Given the description of an element on the screen output the (x, y) to click on. 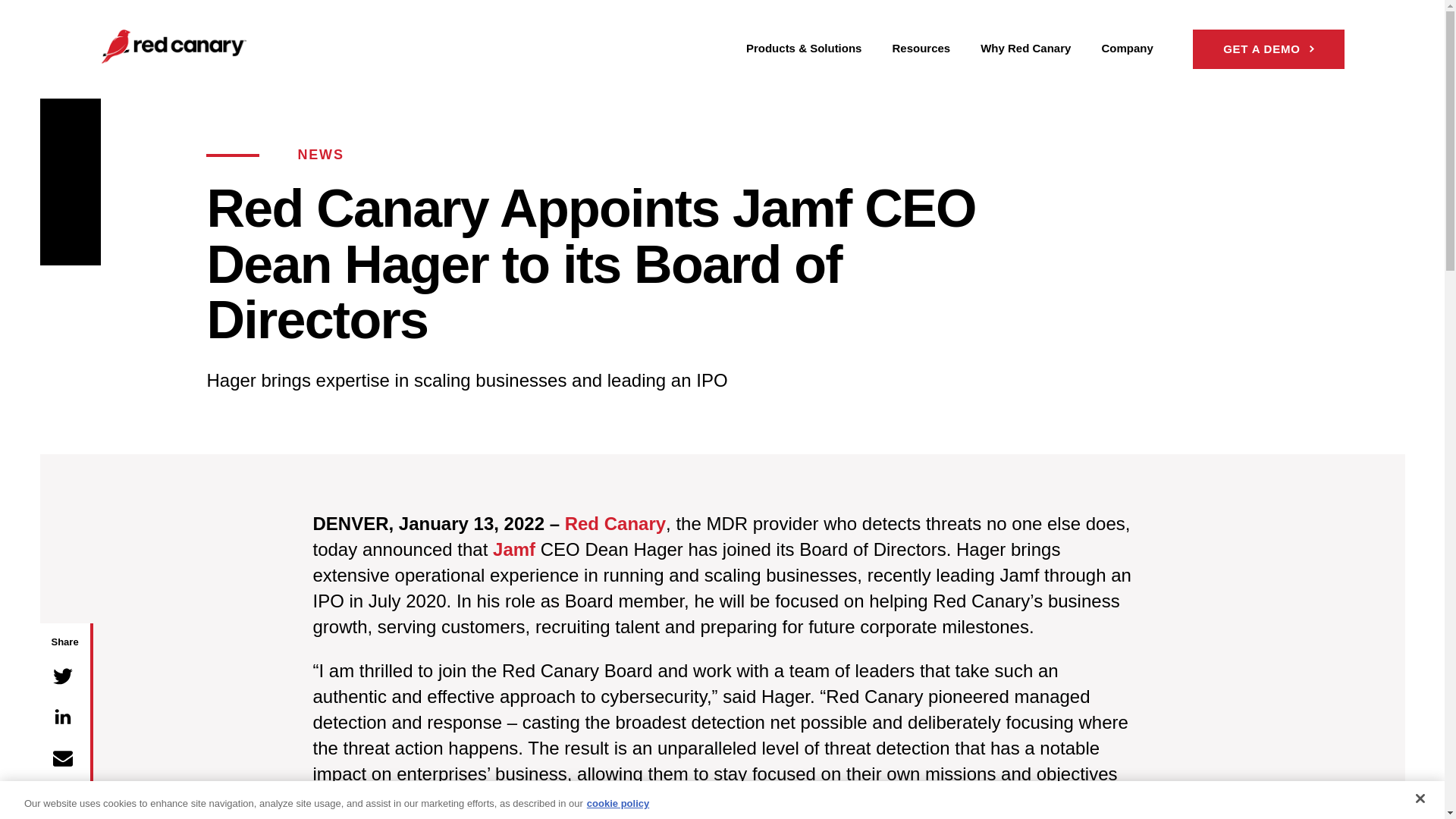
GET A DEMO (1267, 49)
Resources (920, 47)
Why Red Canary (1024, 47)
Company (1126, 47)
